Given the description of an element on the screen output the (x, y) to click on. 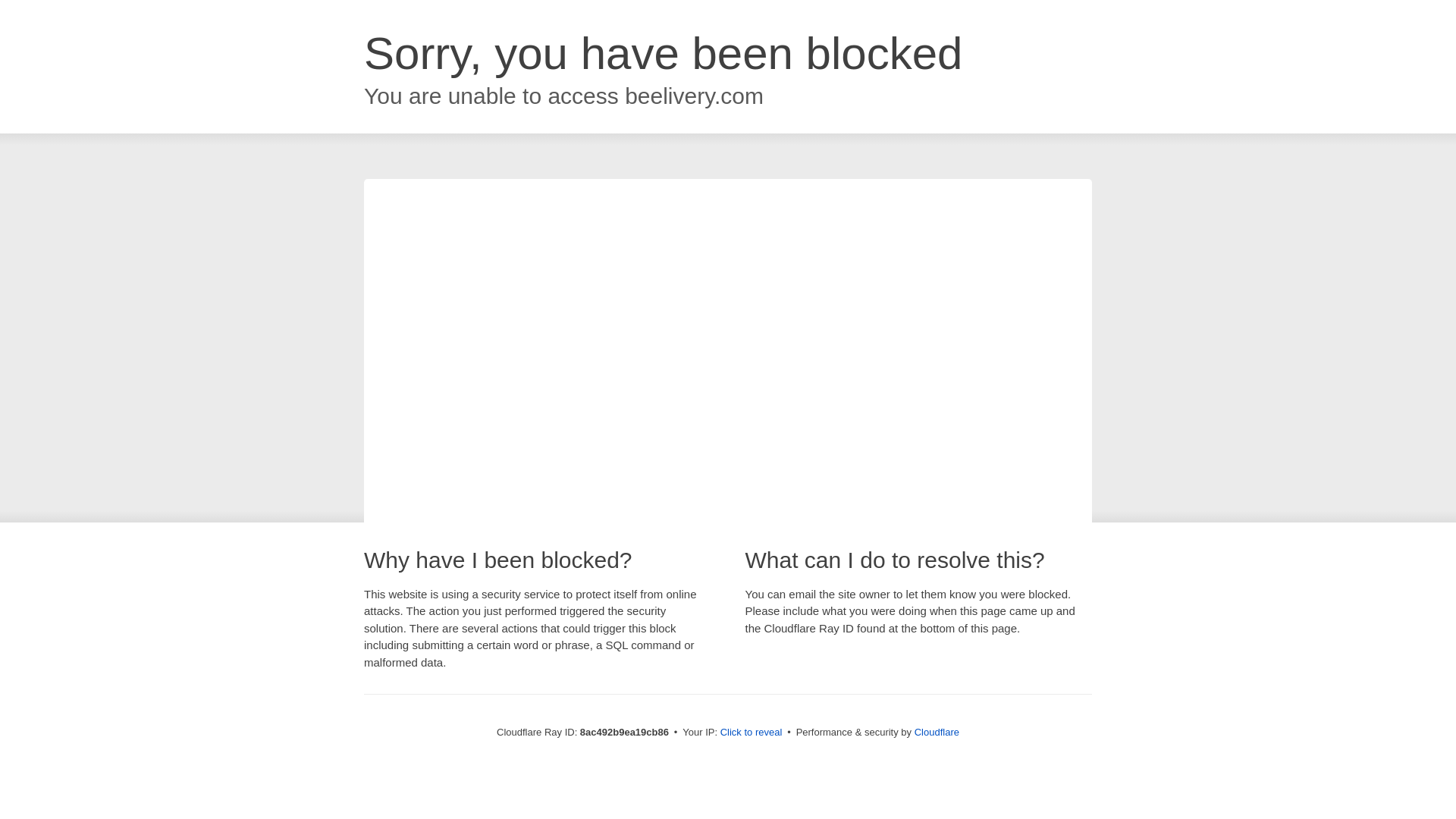
Cloudflare (936, 731)
Click to reveal (751, 732)
